Given the description of an element on the screen output the (x, y) to click on. 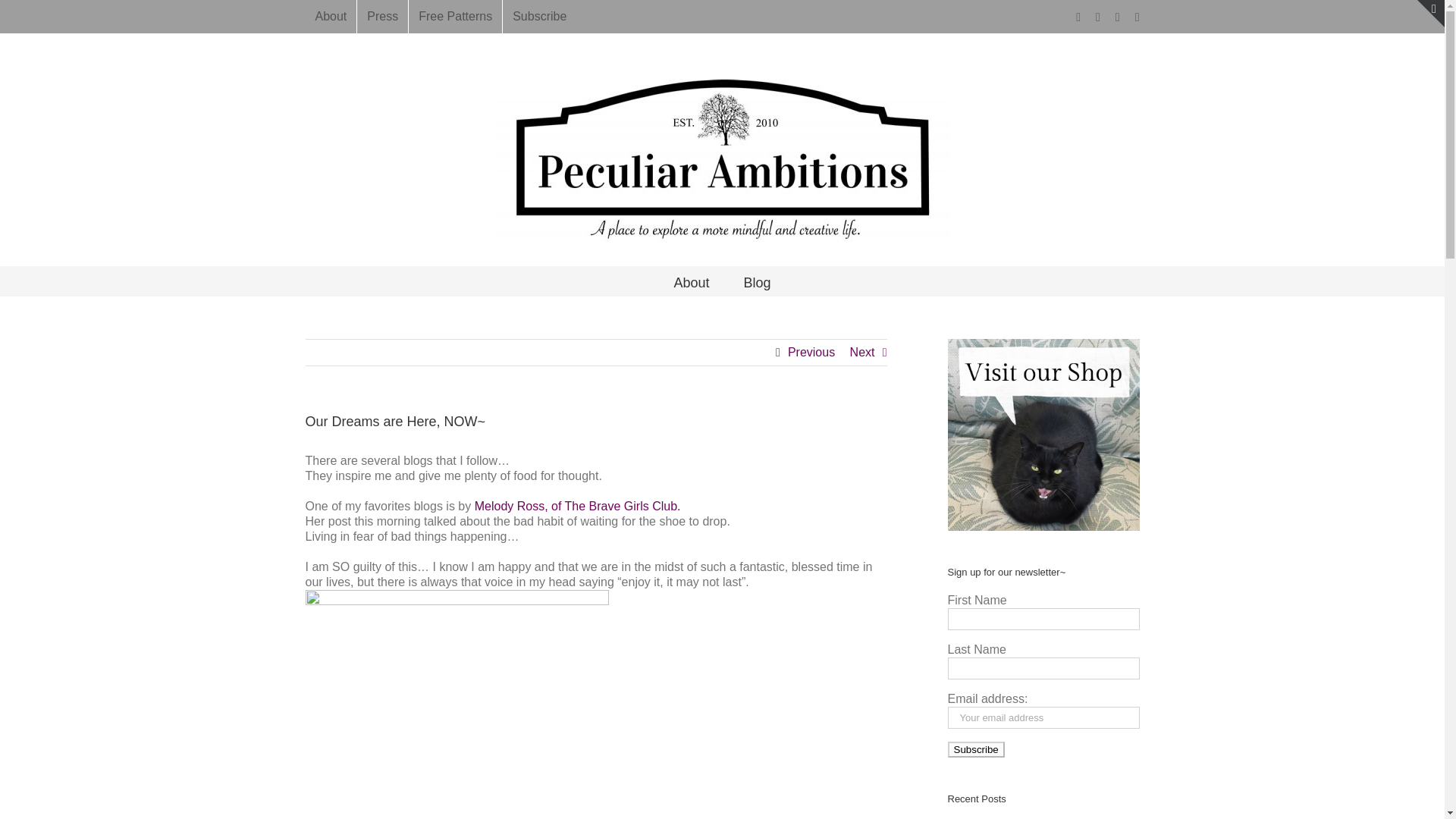
Subscribe (975, 749)
About (330, 16)
Blog (756, 281)
Next (862, 352)
Subscribe (975, 749)
Press (381, 16)
Subscribe (539, 16)
About (690, 281)
Previous (810, 352)
Free Patterns (455, 16)
